Given the description of an element on the screen output the (x, y) to click on. 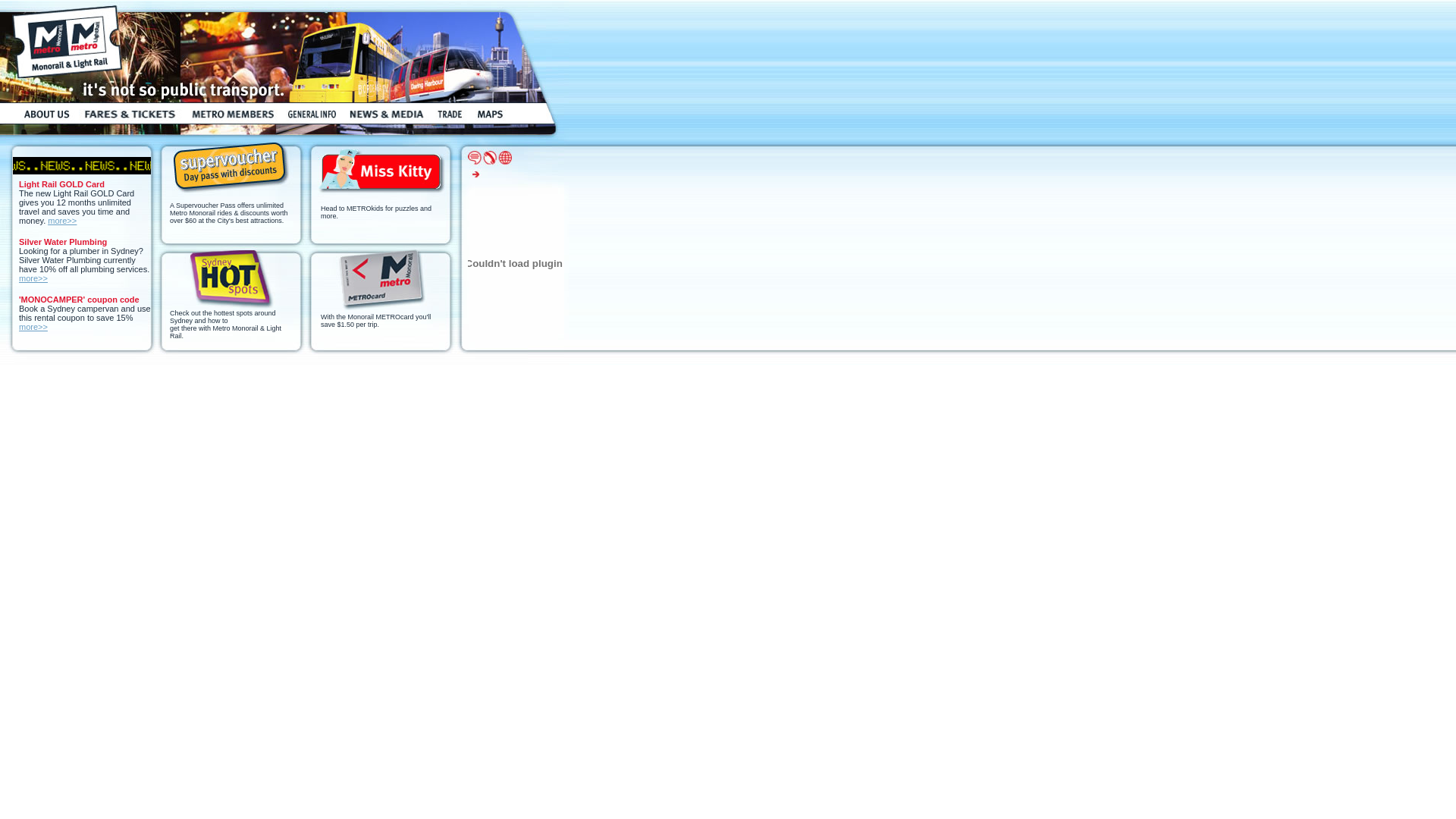
more>> Element type: text (32, 277)
more>> Element type: text (61, 220)
campervan Element type: text (97, 308)
more>> Element type: text (32, 326)
